Given the description of an element on the screen output the (x, y) to click on. 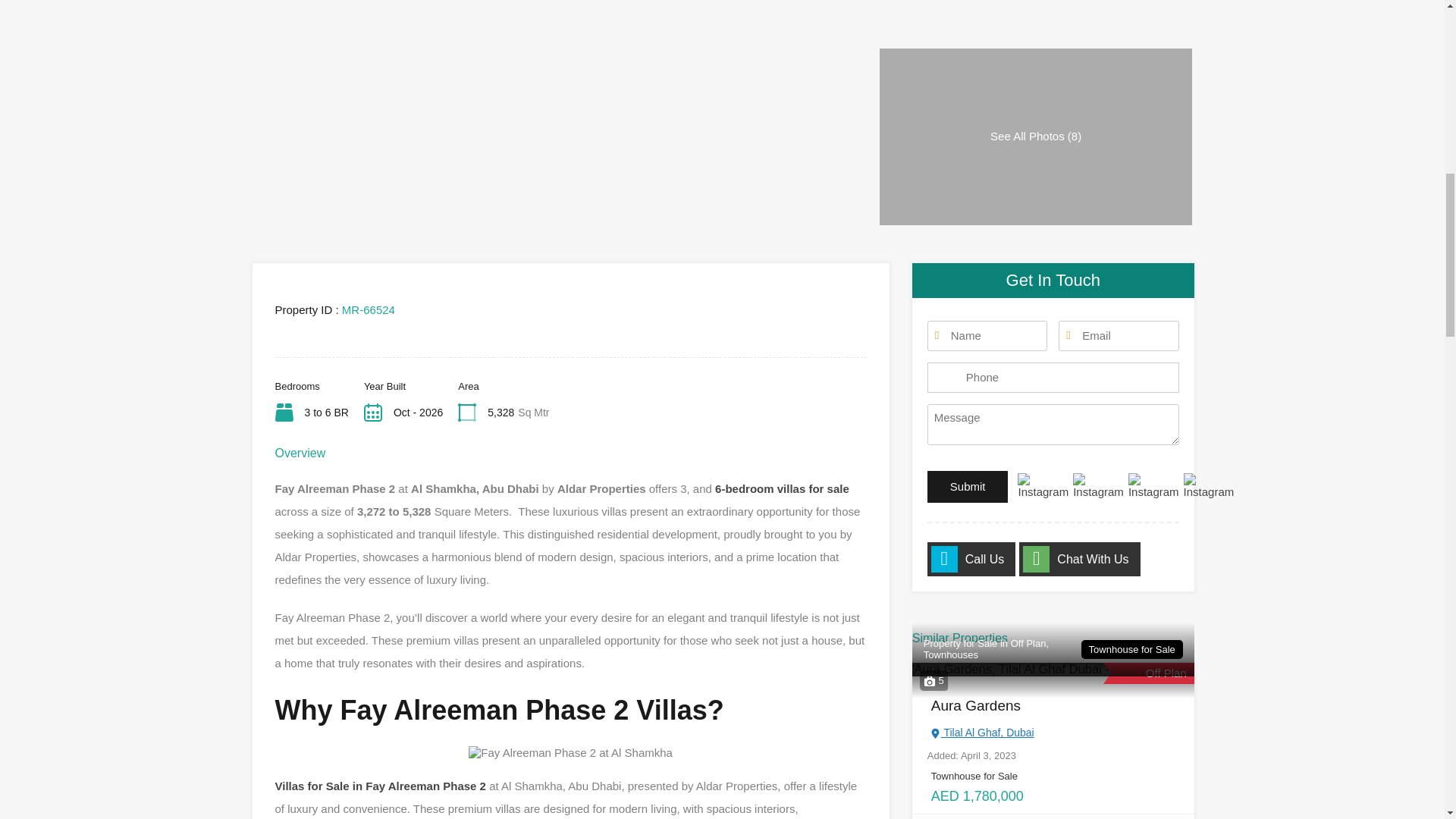
Submit (968, 486)
